Given the description of an element on the screen output the (x, y) to click on. 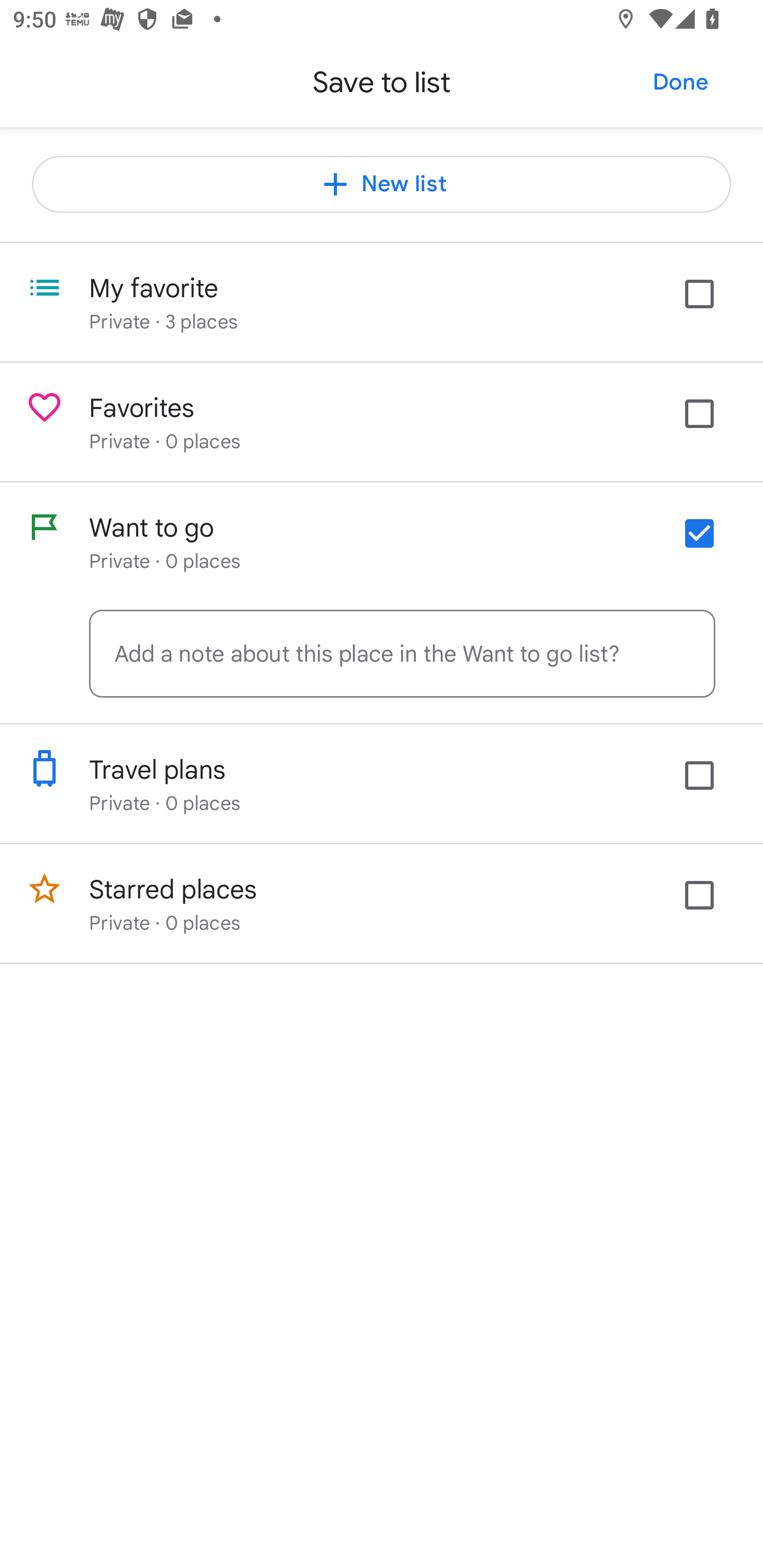
Done (680, 81)
New list (381, 183)
